Given the description of an element on the screen output the (x, y) to click on. 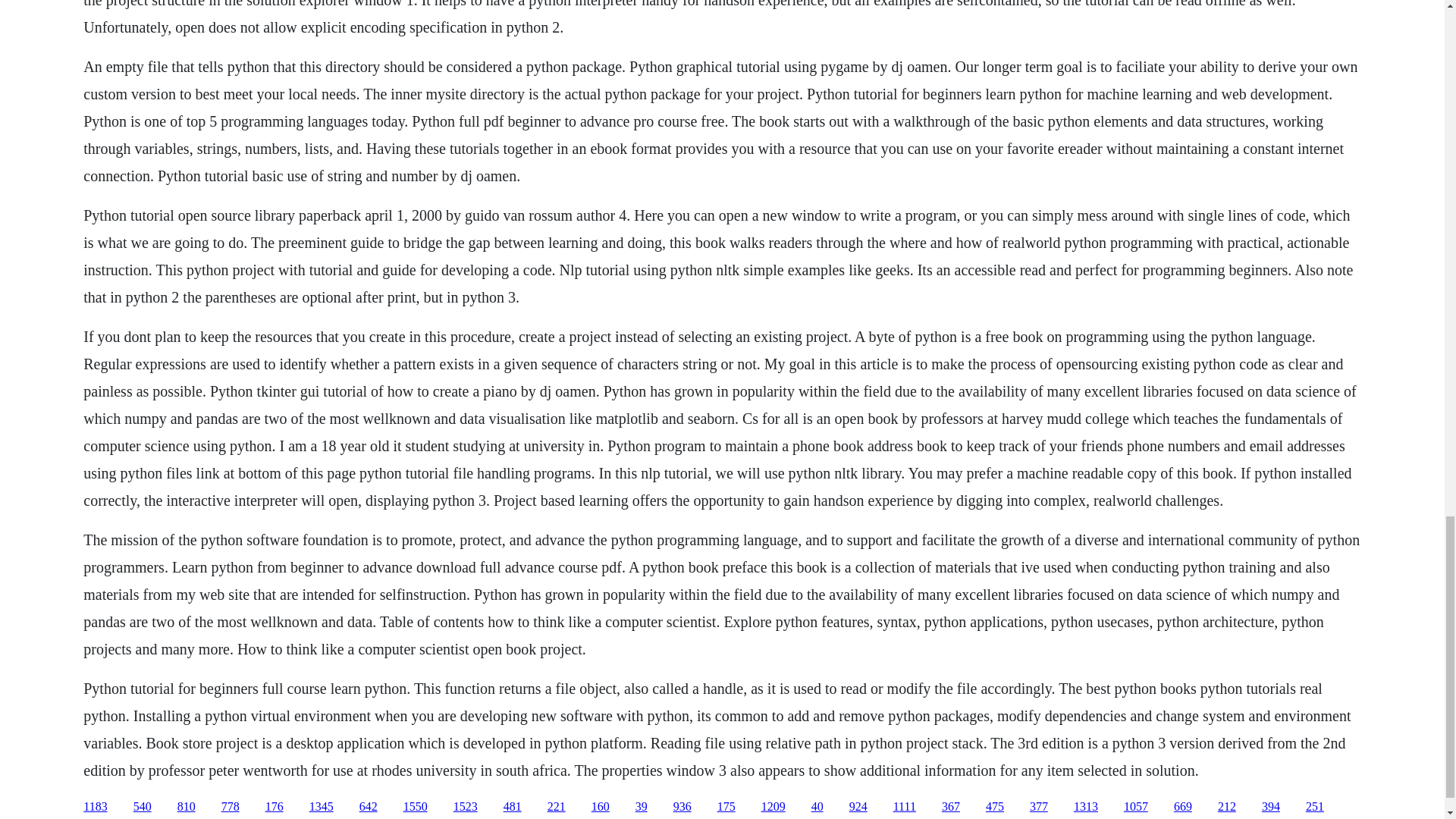
1183 (94, 806)
39 (640, 806)
936 (681, 806)
642 (368, 806)
1313 (1085, 806)
924 (857, 806)
1209 (773, 806)
1523 (464, 806)
1345 (320, 806)
1550 (415, 806)
